Given the description of an element on the screen output the (x, y) to click on. 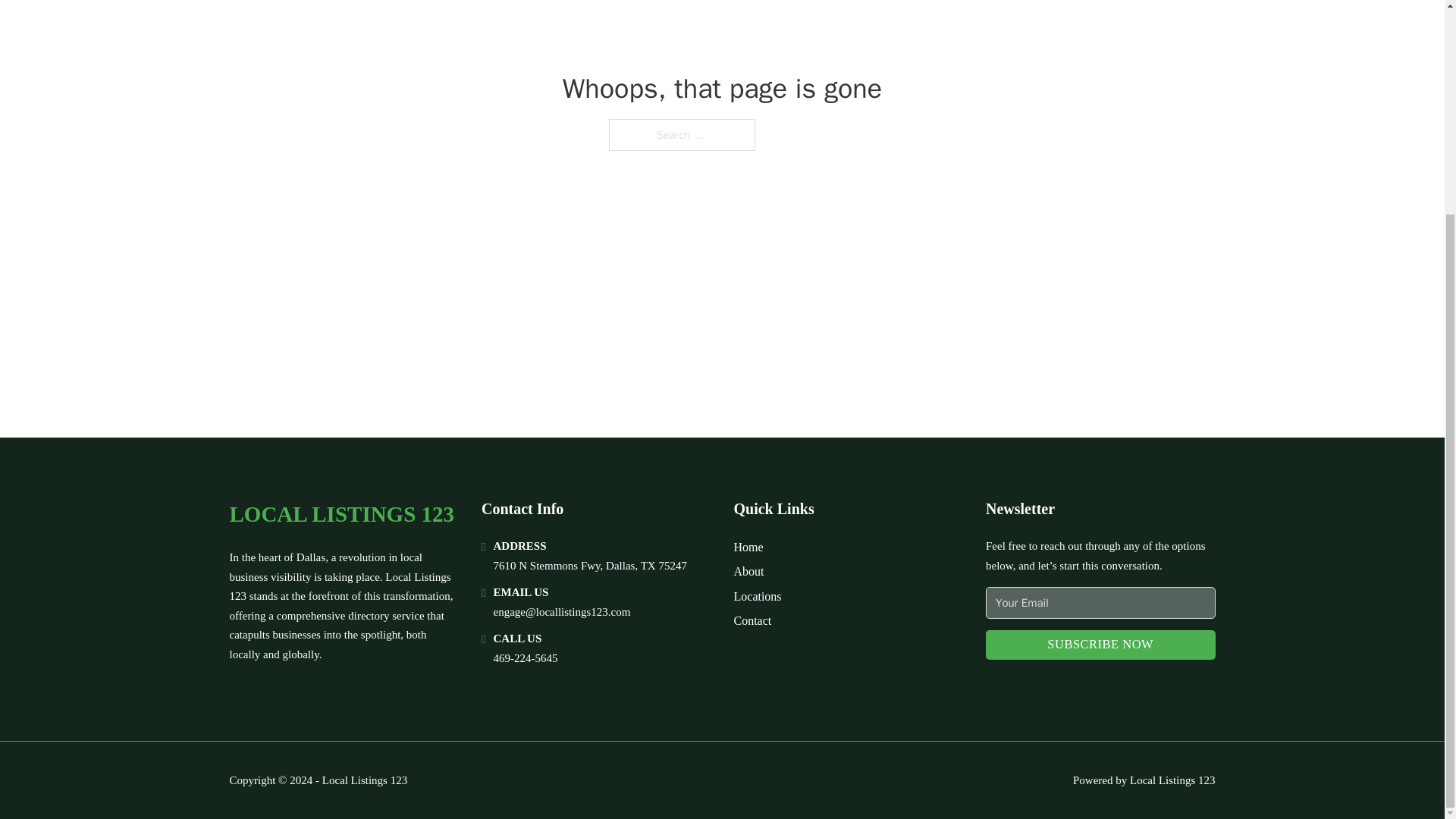
About (748, 571)
Home (747, 547)
469-224-5645 (525, 657)
Contact (752, 620)
Locations (757, 596)
SUBSCRIBE NOW (1100, 644)
LOCAL LISTINGS 123 (341, 514)
